Given the description of an element on the screen output the (x, y) to click on. 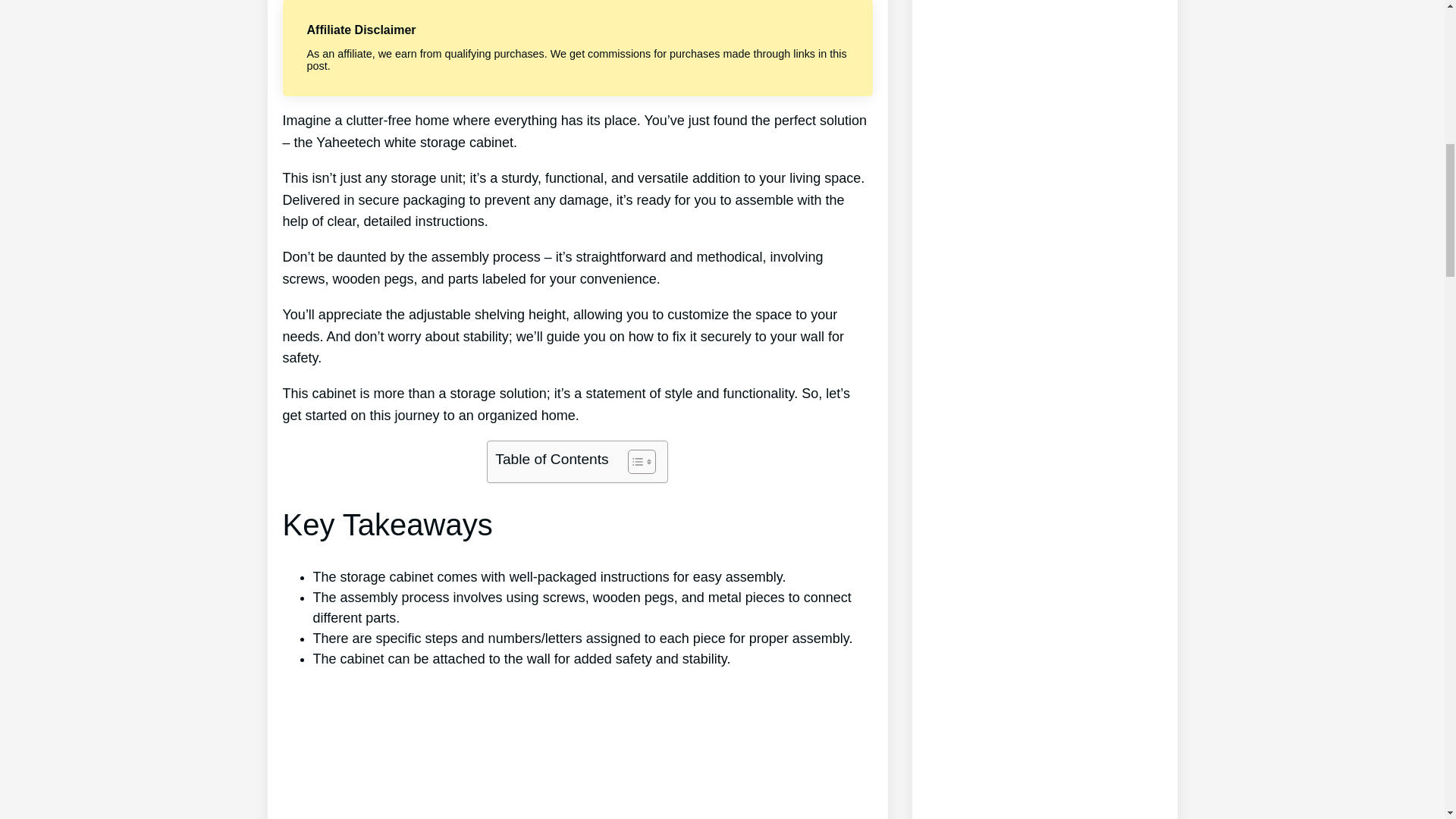
How To Install Yaheetech Wooden Bathroom Floor Cabinet (577, 750)
